Given the description of an element on the screen output the (x, y) to click on. 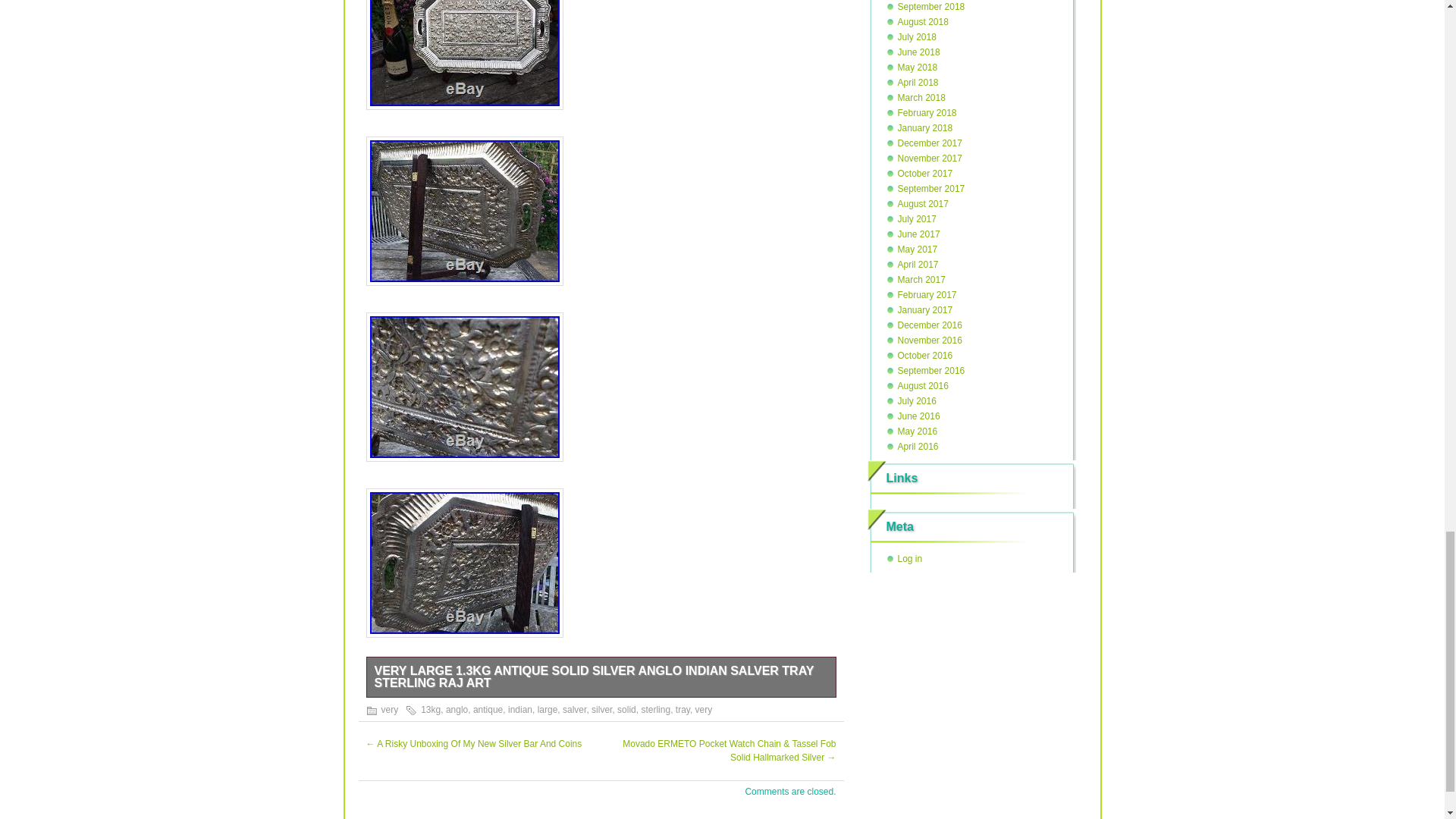
salver (574, 709)
silver (601, 709)
solid (626, 709)
large (547, 709)
indian (520, 709)
anglo (456, 709)
tray (682, 709)
very (704, 709)
